Given the description of an element on the screen output the (x, y) to click on. 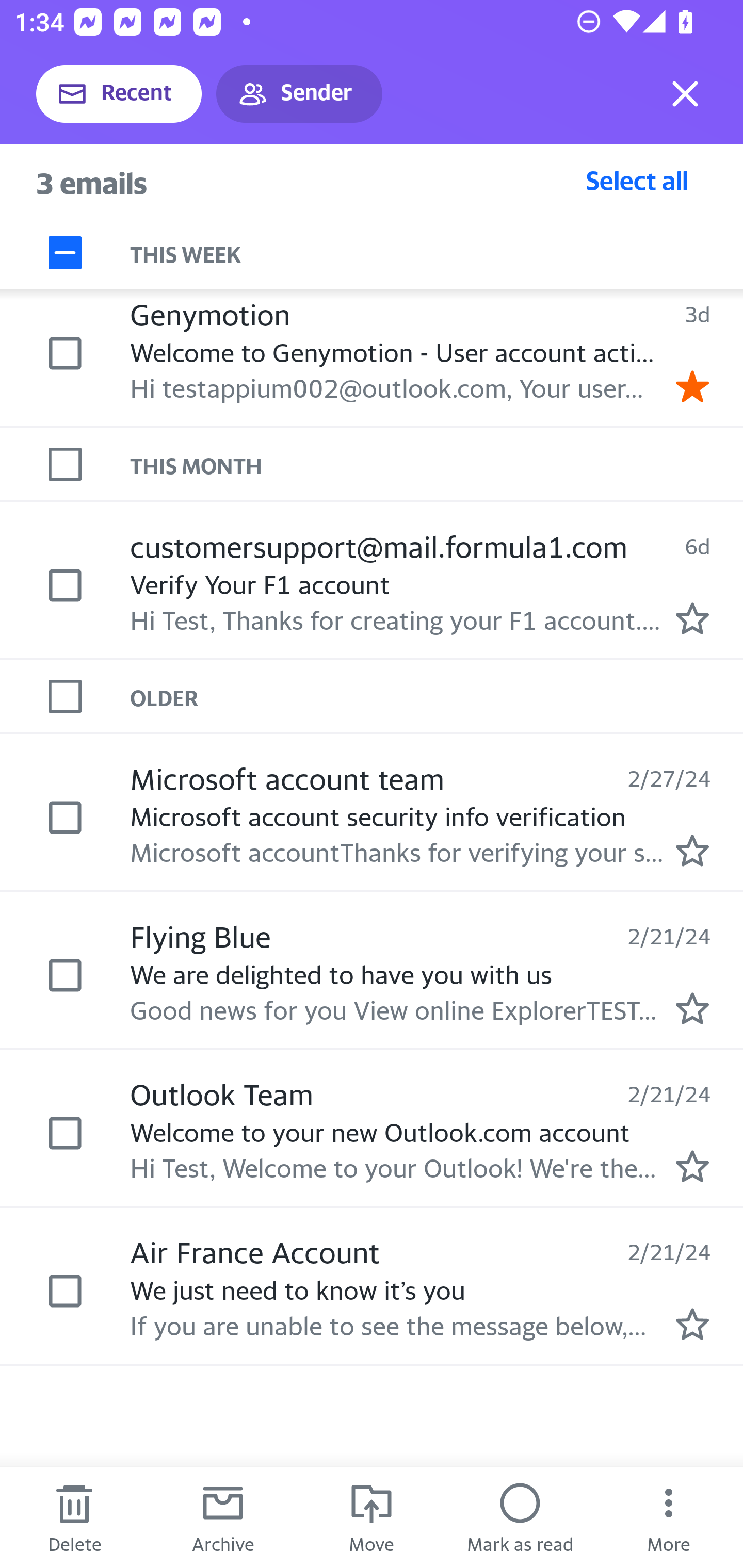
Sender (299, 93)
Exit selection mode (684, 93)
Select all (637, 180)
Remove star. (692, 386)
THIS MONTH (436, 464)
Mark as starred. (692, 618)
OLDER (436, 696)
Mark as starred. (692, 850)
Mark as starred. (692, 1008)
Mark as starred. (692, 1165)
Mark as starred. (692, 1324)
Delete (74, 1517)
Archive (222, 1517)
Move (371, 1517)
Mark as read (519, 1517)
More (668, 1517)
